Given the description of an element on the screen output the (x, y) to click on. 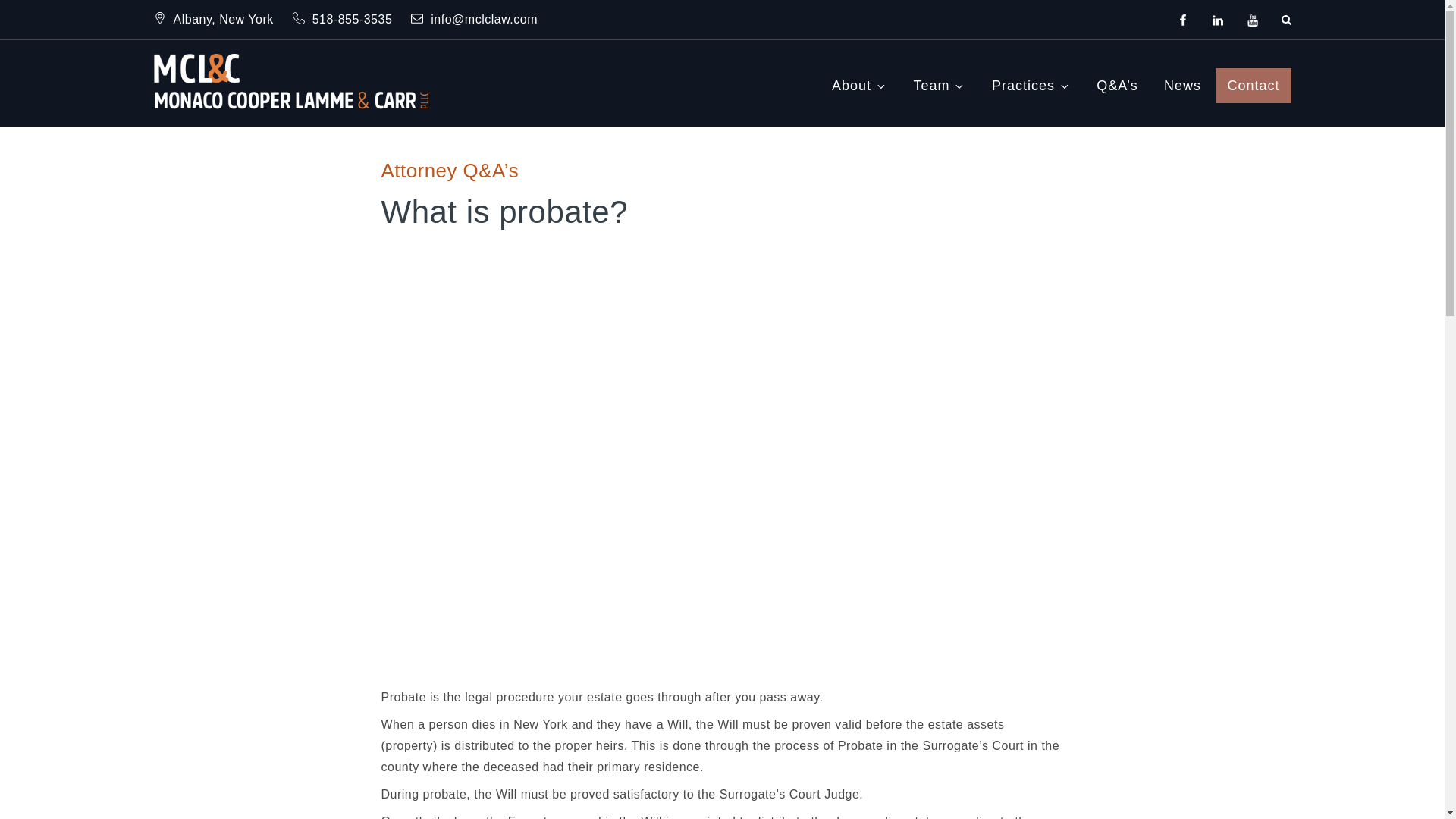
Team (938, 85)
518-855-3535 (344, 19)
YouTube (1252, 19)
facebook (1182, 19)
About (859, 85)
linkedin (1217, 19)
